Given the description of an element on the screen output the (x, y) to click on. 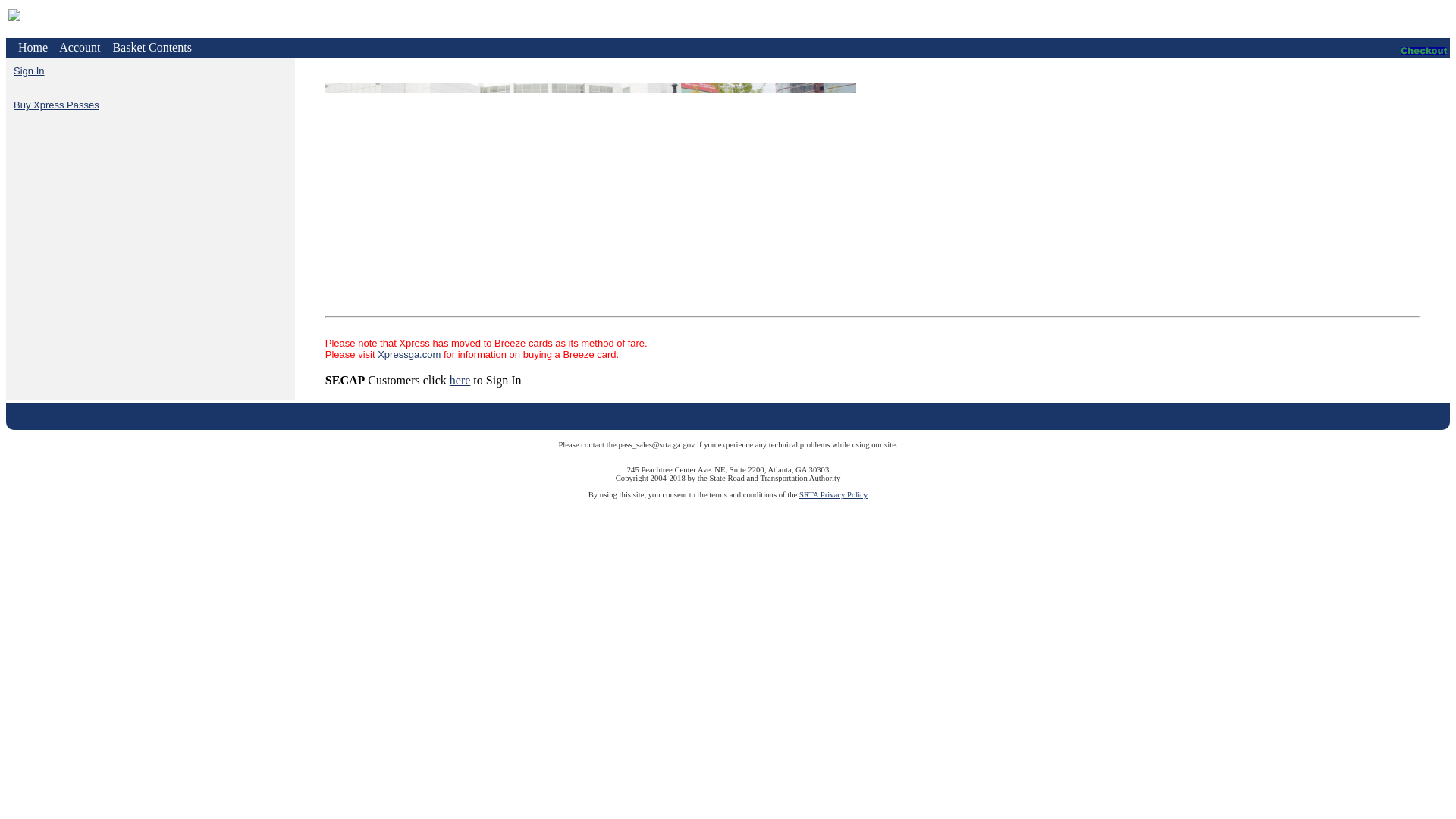
Basket Contents (151, 47)
here (459, 379)
Account (79, 47)
Xpressga.com (409, 354)
Buy Xpress Passes (56, 104)
Sign In (28, 70)
Home (32, 47)
SRTA Privacy Policy (833, 494)
